Given the description of an element on the screen output the (x, y) to click on. 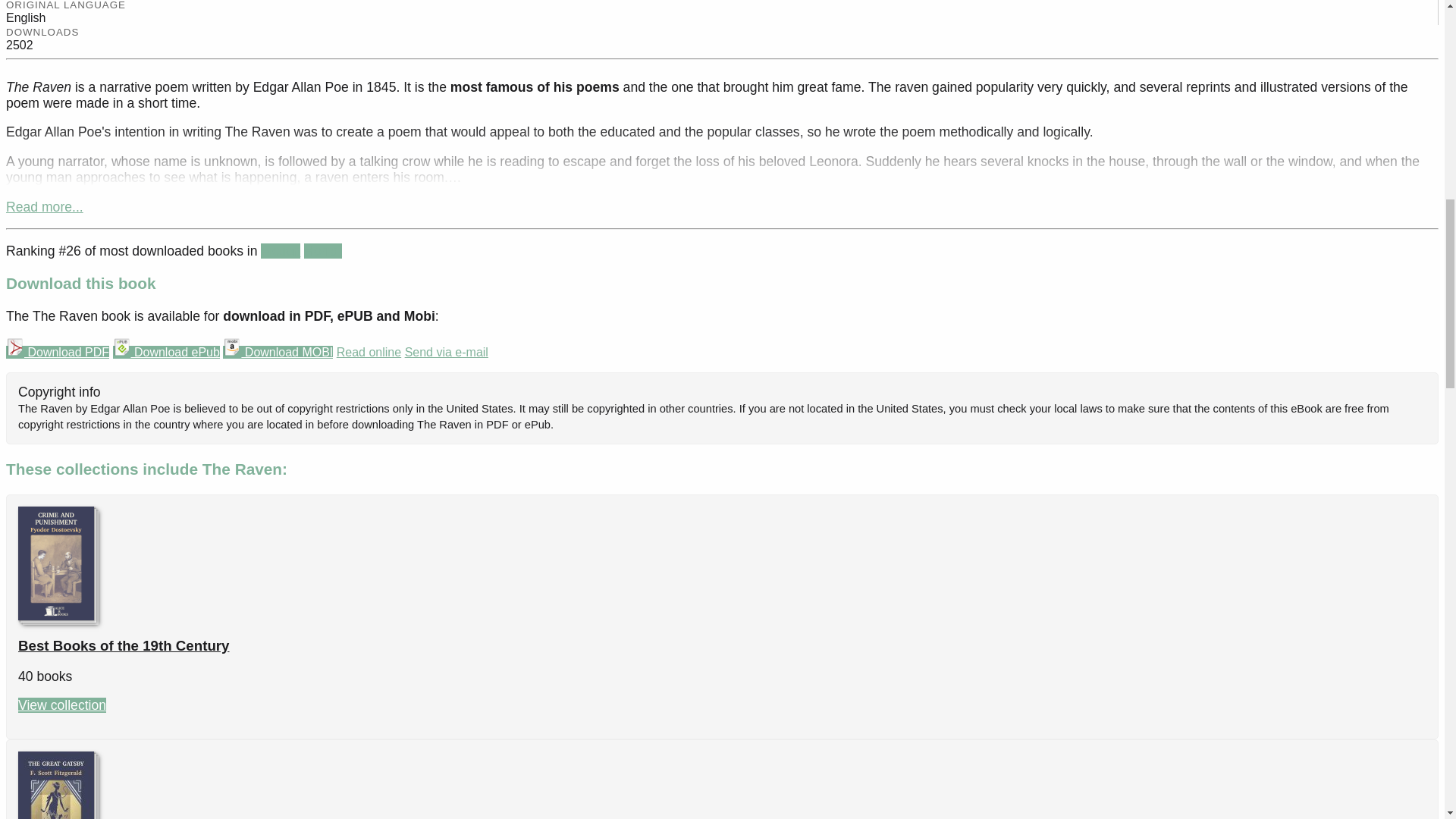
Read online (368, 351)
Download MOBI (277, 351)
The Raven in ePub (165, 351)
Fiction (279, 250)
Read more... (43, 206)
The Raven in MOBI (277, 351)
View collection (61, 704)
Download PDF (57, 351)
Horror (323, 250)
The Raven in PDF (57, 351)
Download ePub (165, 351)
Best Books of the 19th Century (123, 645)
Send via e-mail (445, 351)
